Given the description of an element on the screen output the (x, y) to click on. 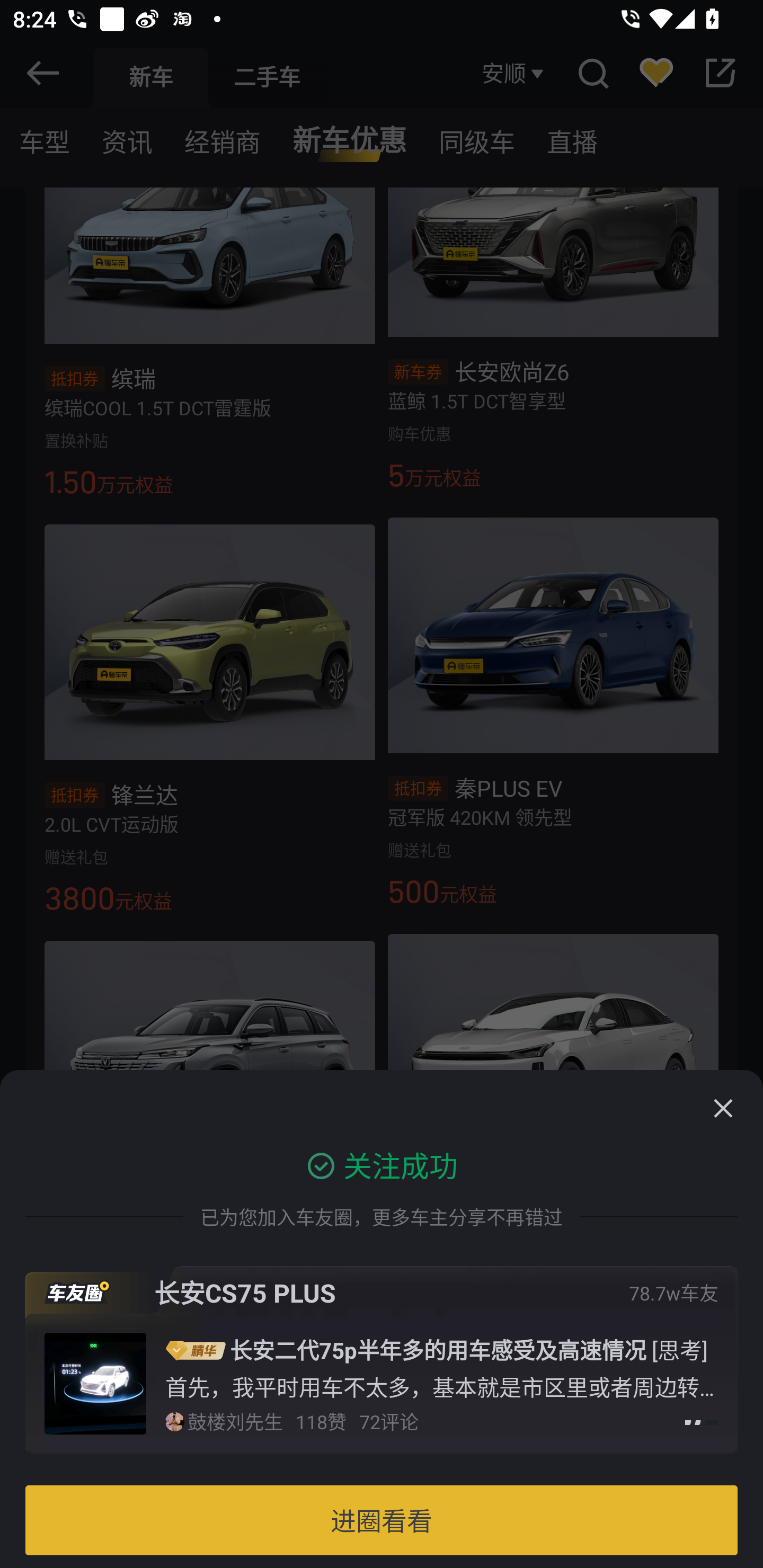
 (722, 1108)
进圈看看 (381, 1519)
